Given the description of an element on the screen output the (x, y) to click on. 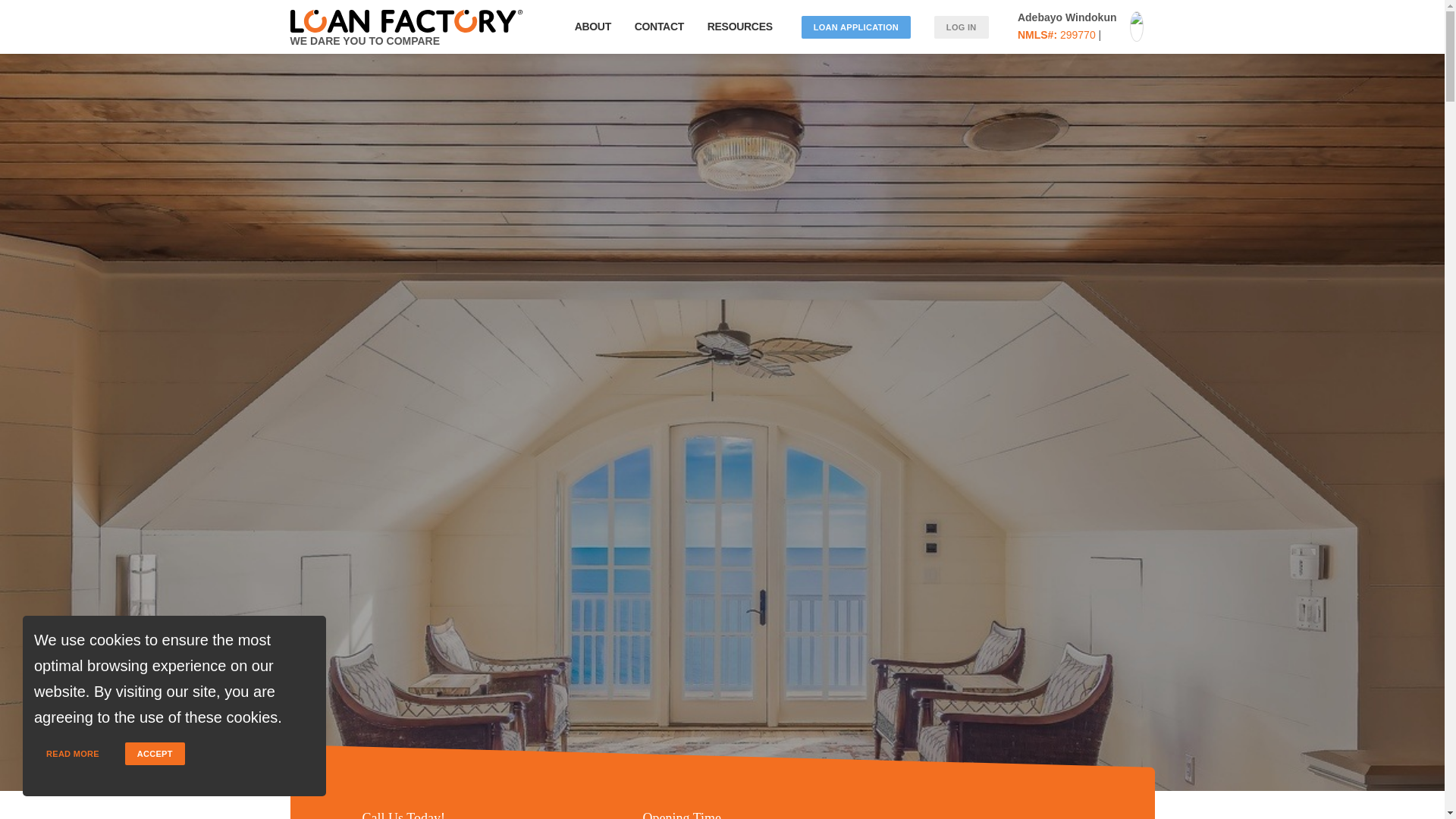
CONTACT (658, 27)
RESOURCES   (742, 27)
LOAN APPLICATION (856, 26)
ABOUT (592, 27)
LOG IN (961, 26)
LOAN APPLICATION (855, 27)
LOG IN (960, 27)
